Given the description of an element on the screen output the (x, y) to click on. 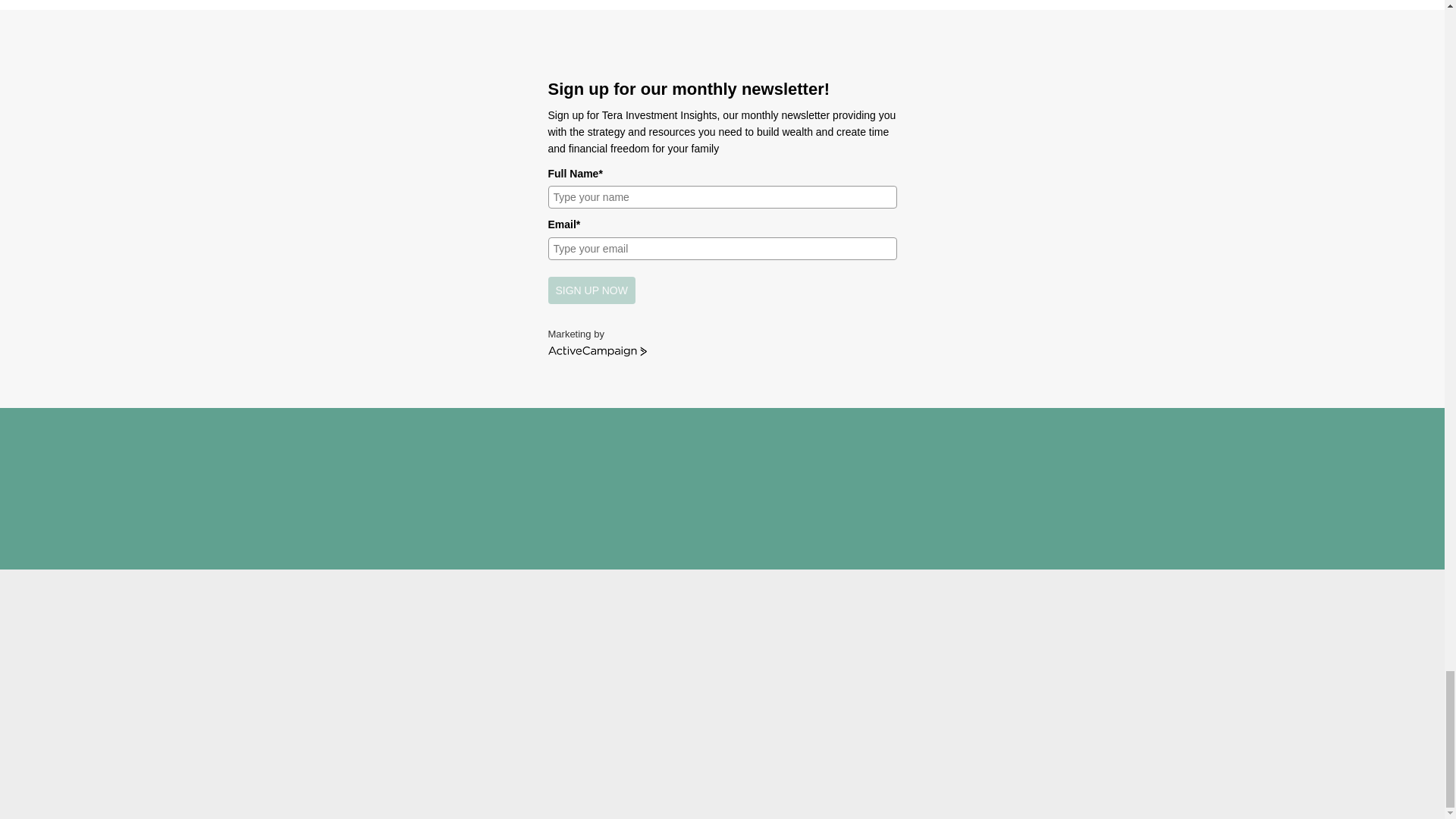
SIGN UP NOW (590, 289)
ActiveCampaign (596, 351)
